Given the description of an element on the screen output the (x, y) to click on. 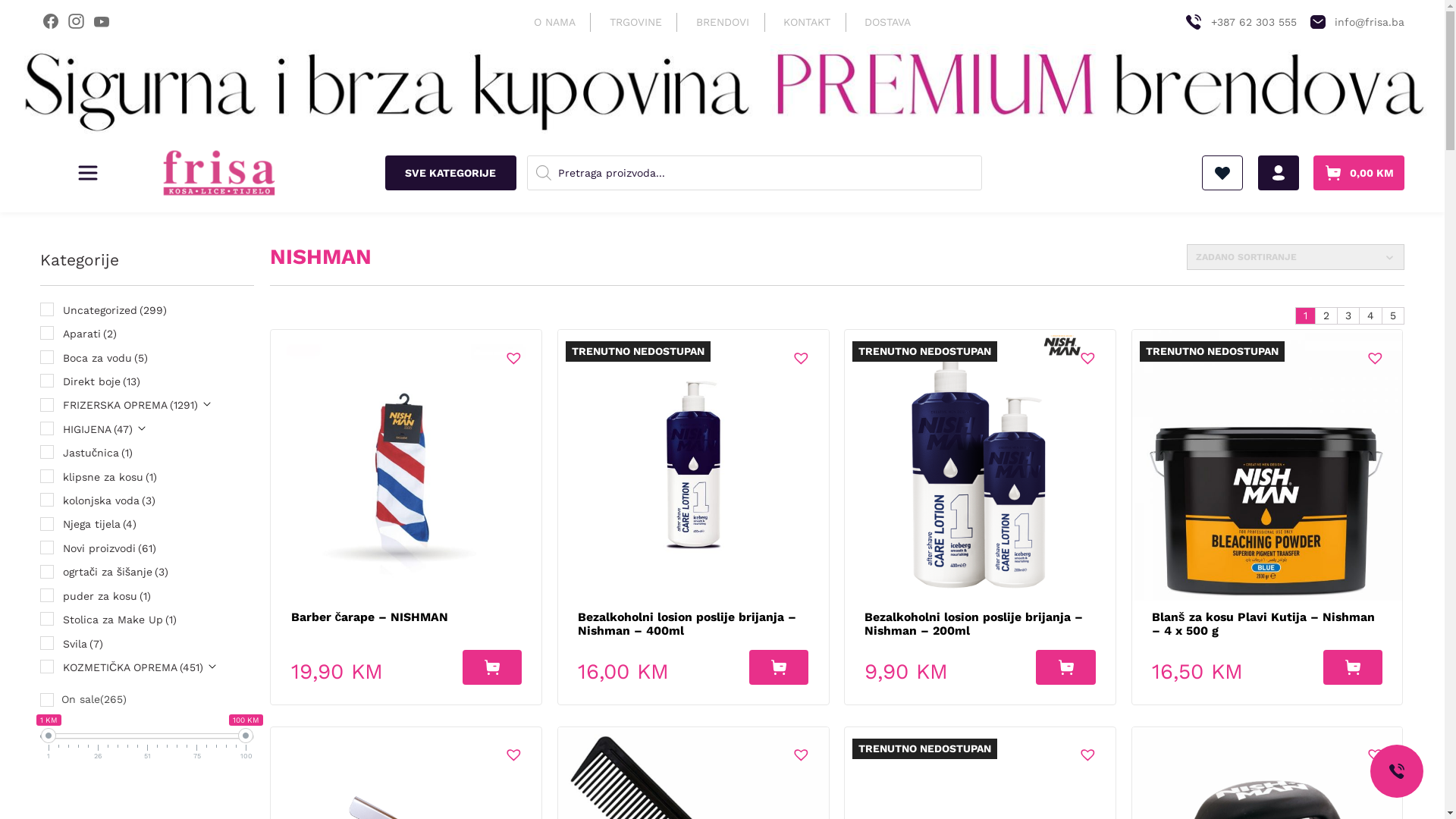
TRGOVINE Element type: text (635, 21)
info@frisa.ba Element type: text (1355, 21)
2 Element type: text (1325, 315)
4 Element type: text (1370, 315)
O NAMA Element type: text (554, 21)
+387 62 303 555 Element type: text (1239, 21)
KONTAKT Element type: text (807, 21)
BRENDOVI Element type: text (722, 21)
DOSTAVA Element type: text (887, 21)
5 Element type: text (1392, 315)
3 Element type: text (1347, 315)
0,00 KM Element type: text (1358, 172)
SVE KATEGORIJE Element type: text (450, 172)
